Given the description of an element on the screen output the (x, y) to click on. 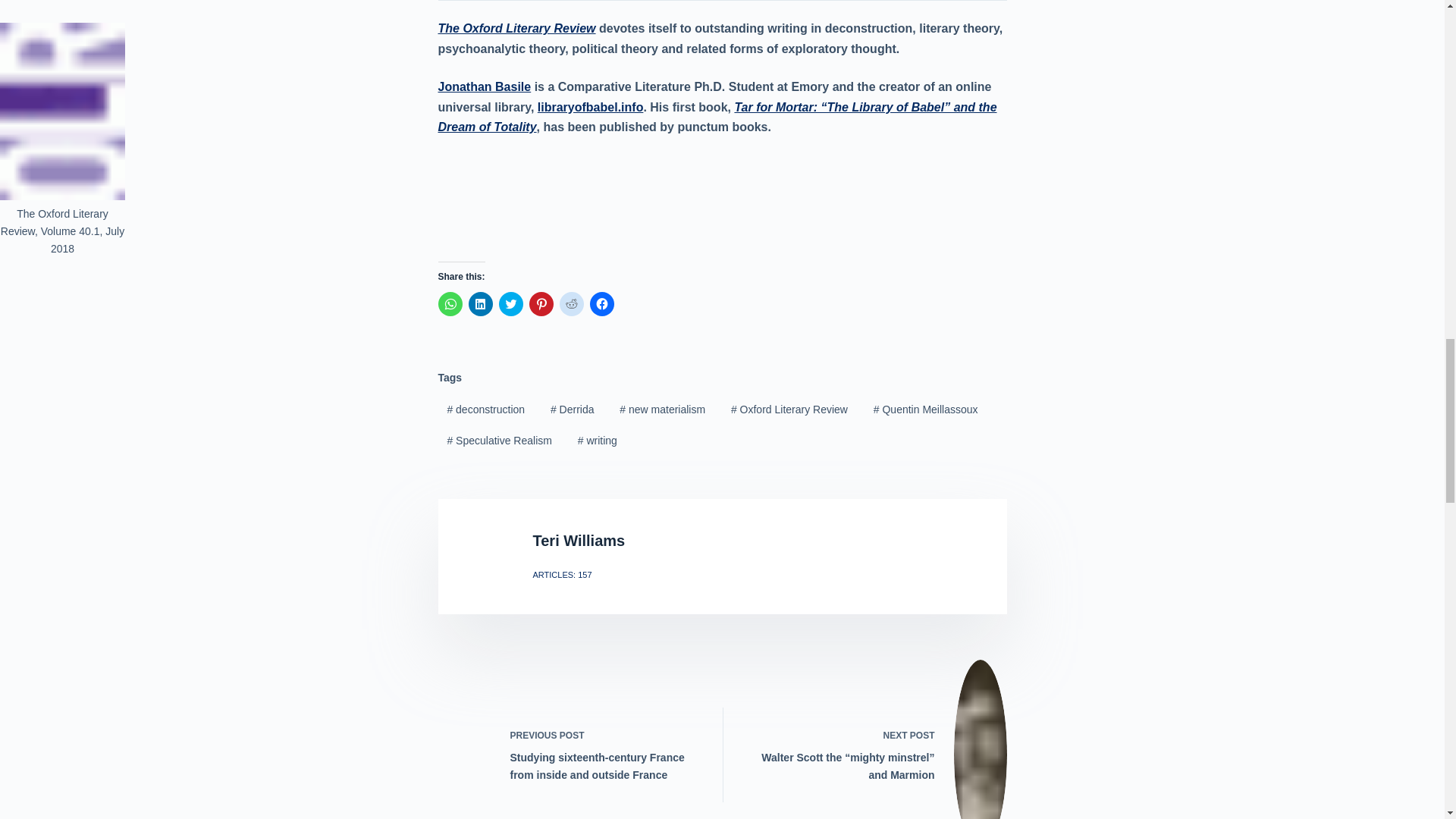
Click to share on WhatsApp (450, 303)
Click to share on Pinterest (541, 303)
Click to share on Twitter (510, 303)
Click to share on Reddit (571, 303)
Click to share on Facebook (601, 303)
Click to share on LinkedIn (480, 303)
